Given the description of an element on the screen output the (x, y) to click on. 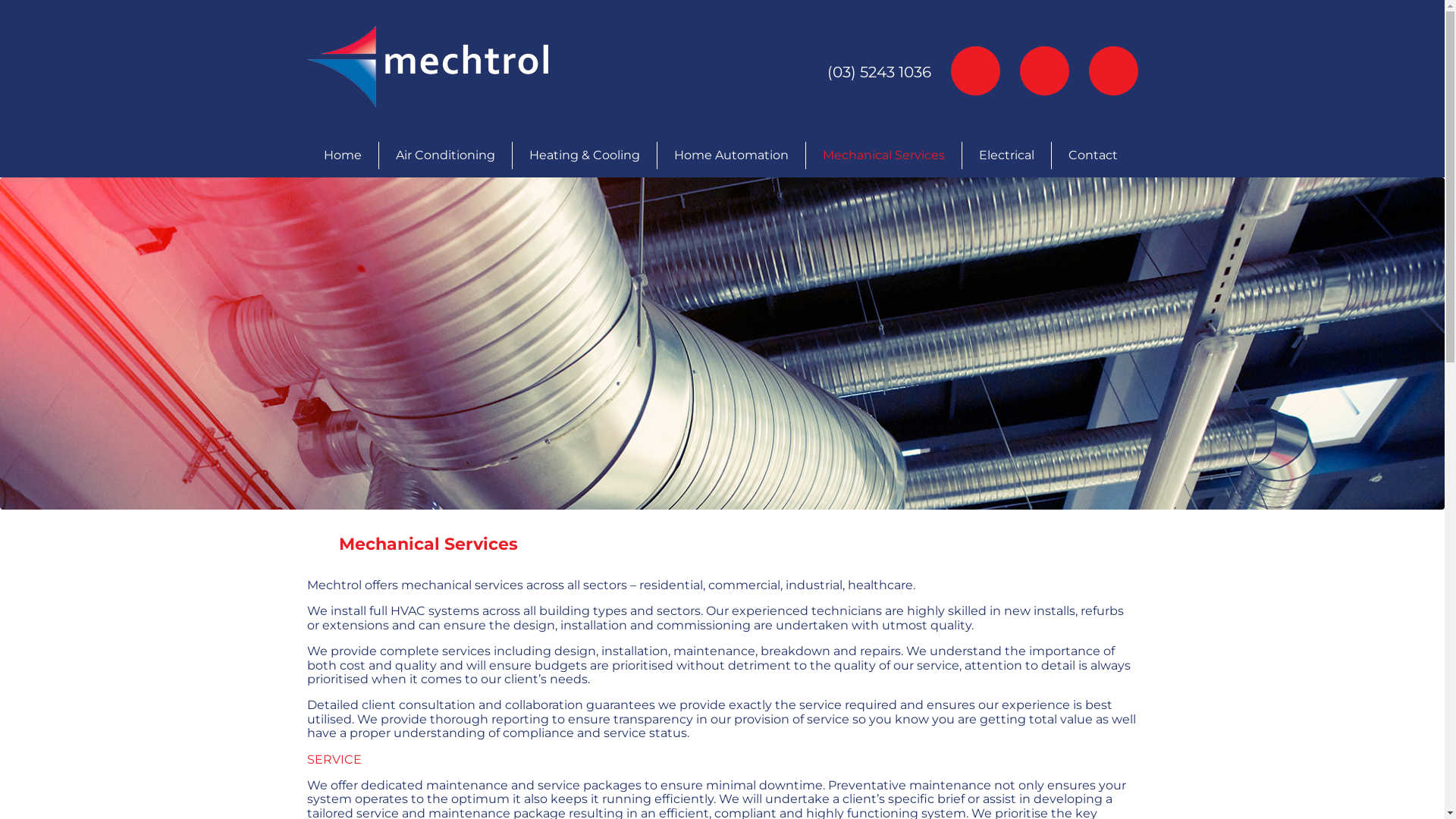
(03) 5243 1036 Element type: text (878, 71)
Heating & Cooling Element type: text (584, 155)
Mechanical Services Element type: text (883, 155)
Home Element type: text (342, 155)
Electrical Element type: text (1006, 155)
Air Conditioning Element type: text (445, 155)
Contact Element type: text (1092, 155)
Home Automation Element type: text (730, 155)
